Given the description of an element on the screen output the (x, y) to click on. 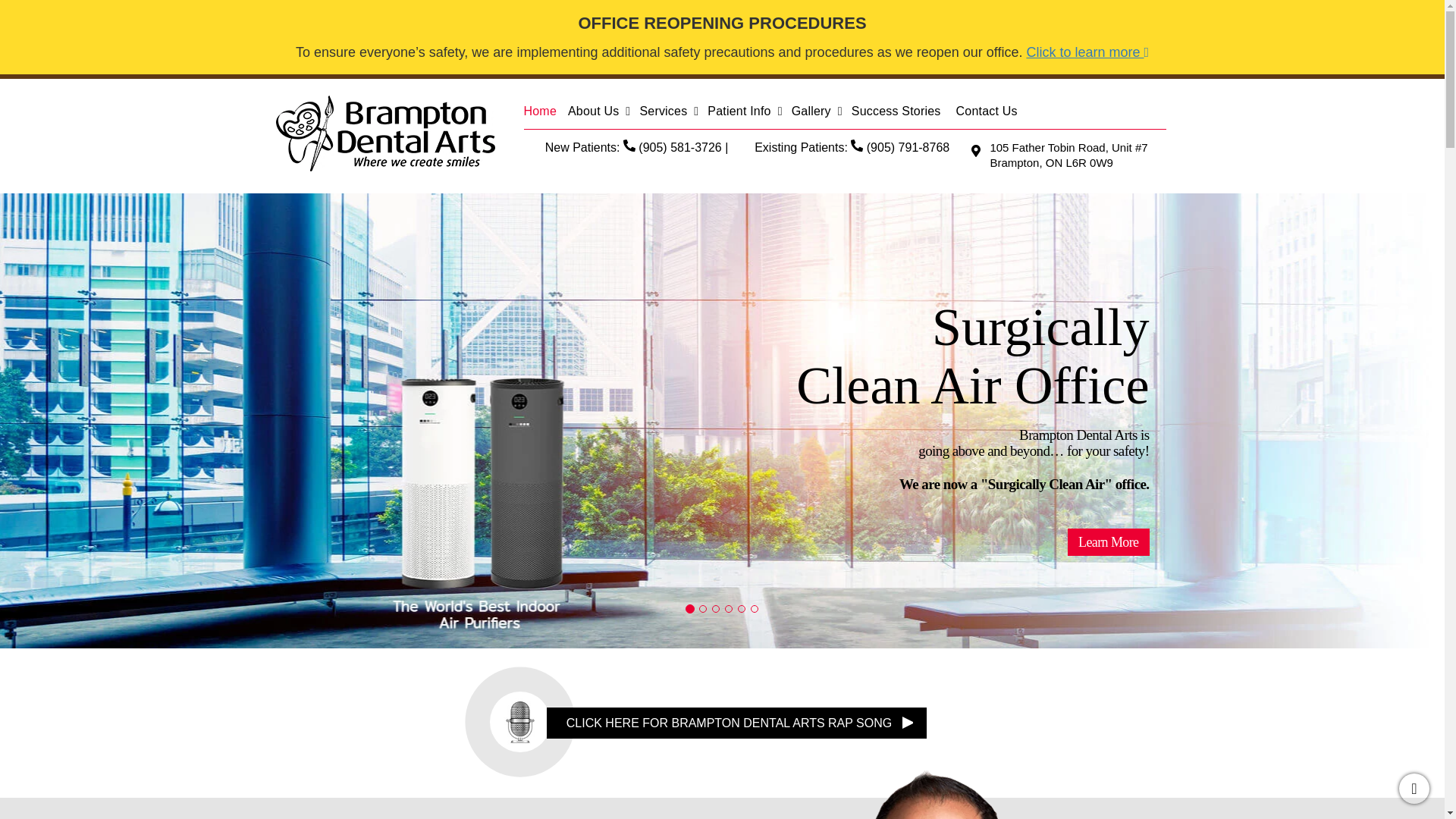
Learn More (1107, 542)
About Us (598, 113)
Patient Info (744, 113)
Contact Us (991, 113)
Home (544, 113)
Services (668, 113)
Gallery (817, 113)
Success Stories (903, 113)
Click to learn more (1087, 52)
